Given the description of an element on the screen output the (x, y) to click on. 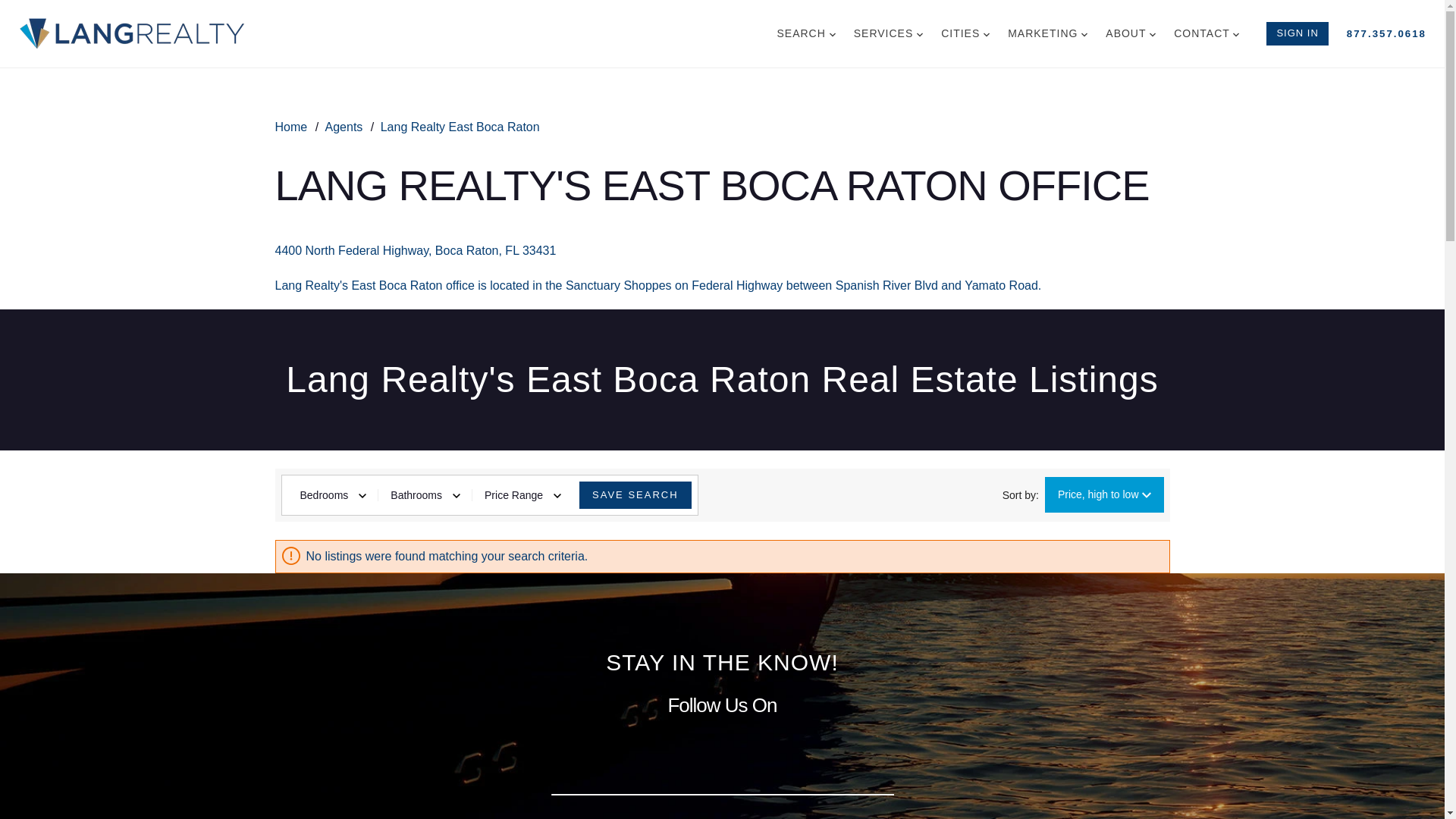
DROPDOWN ARROW (987, 34)
DROPDOWN ARROW (832, 34)
SERVICES DROPDOWN ARROW (887, 32)
SEARCH DROPDOWN ARROW (805, 32)
DROPDOWN ARROW (920, 34)
CITIES DROPDOWN ARROW (964, 32)
DROPDOWN ARROW (1084, 34)
DROPDOWN ARROW (1153, 34)
DROPDOWN ARROW (1236, 34)
